Given the description of an element on the screen output the (x, y) to click on. 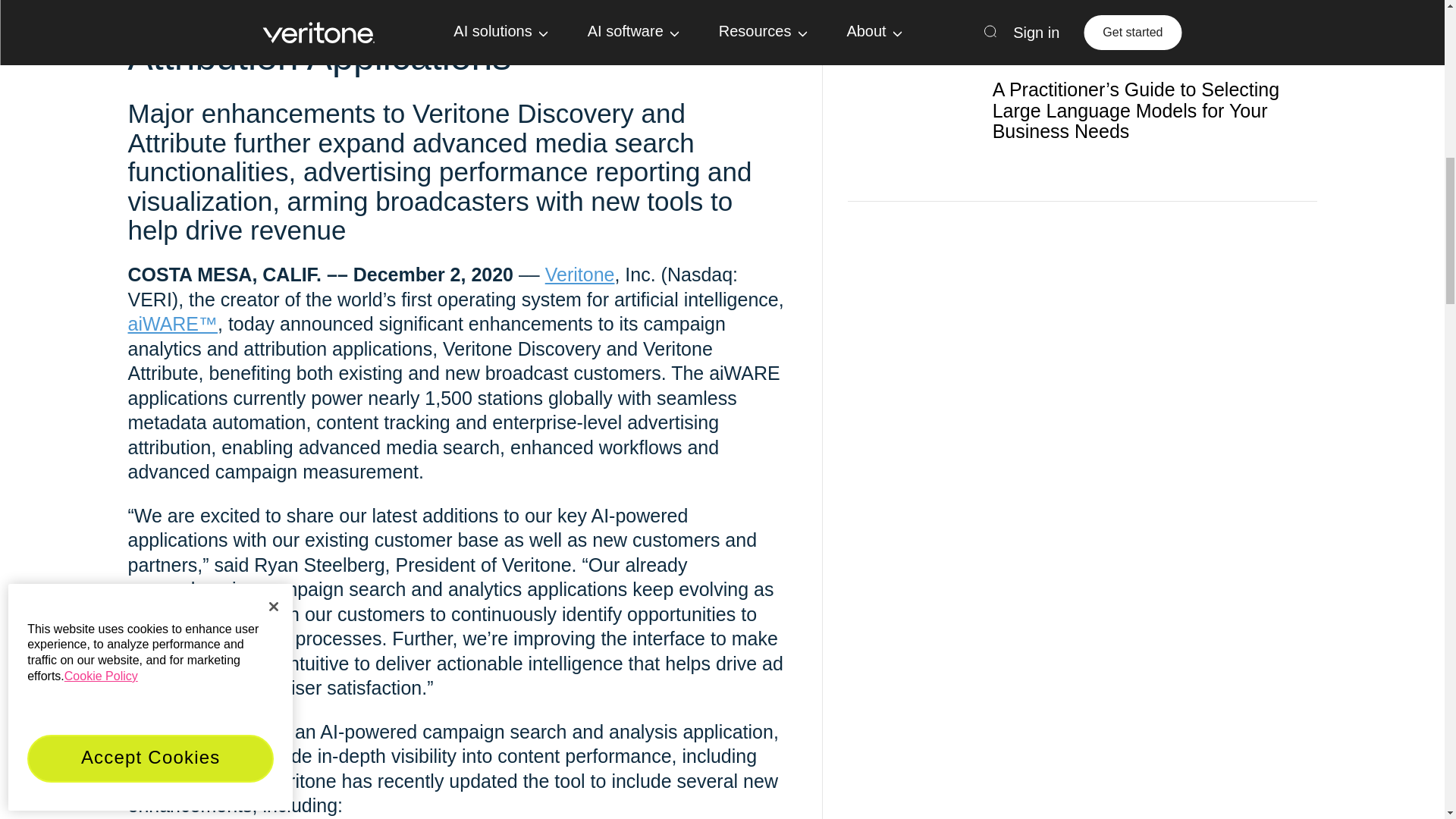
Posts by Keisuke Inoue (1128, 59)
